Given the description of an element on the screen output the (x, y) to click on. 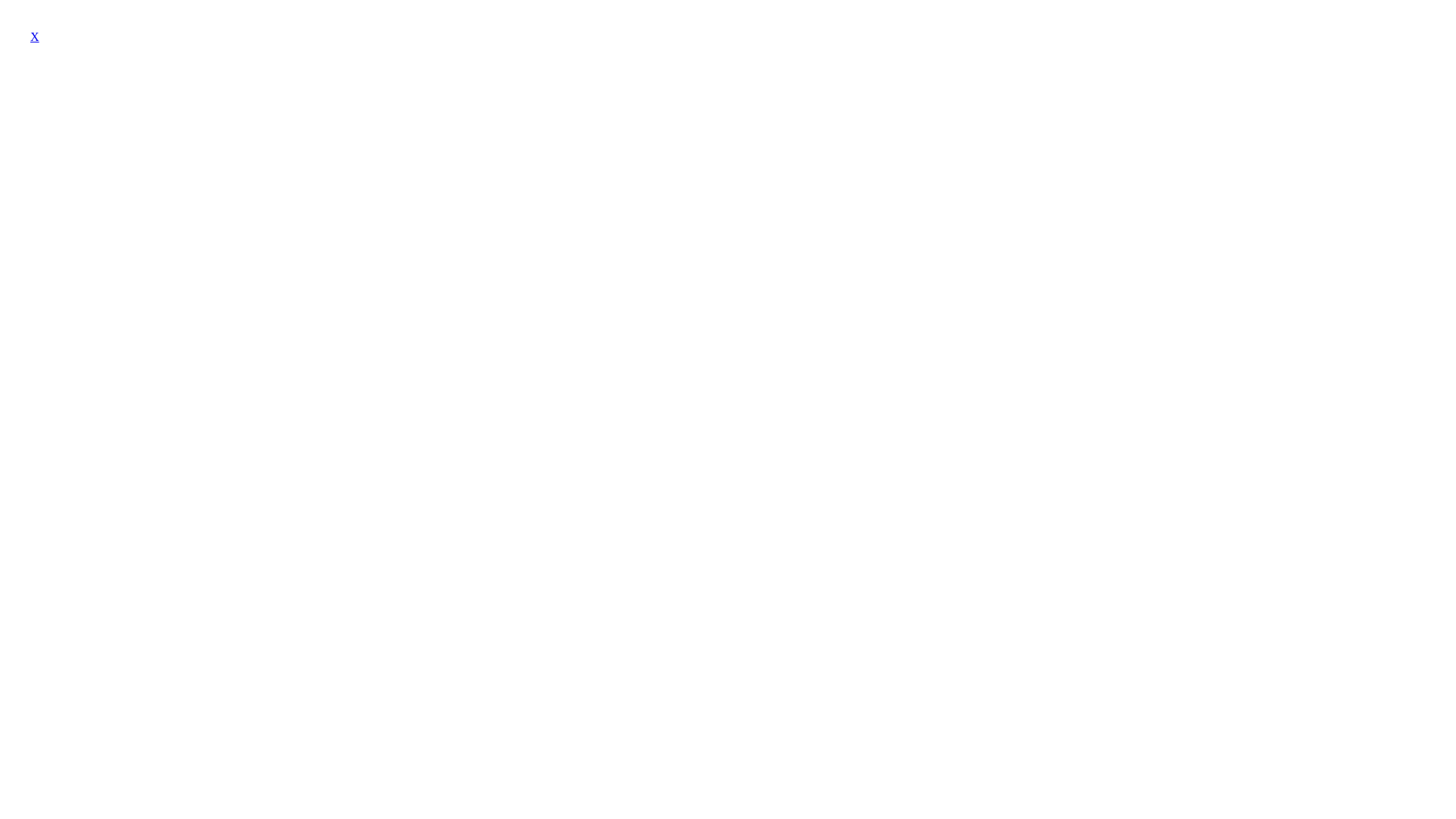
Forgot Password? Element type: text (87, 252)
Login Element type: text (57, 225)
Register Element type: text (63, 279)
Help Element type: text (78, 305)
Privacy Policy Element type: text (41, 170)
White Label QR Platform Element type: text (72, 103)
QR Code Generator Element type: text (260, 170)
X Element type: text (34, 36)
About us Element type: text (187, 170)
Login Element type: text (20, 144)
Forgot Password? Element type: text (1403, 156)
Terms of Service Element type: text (120, 170)
